Given the description of an element on the screen output the (x, y) to click on. 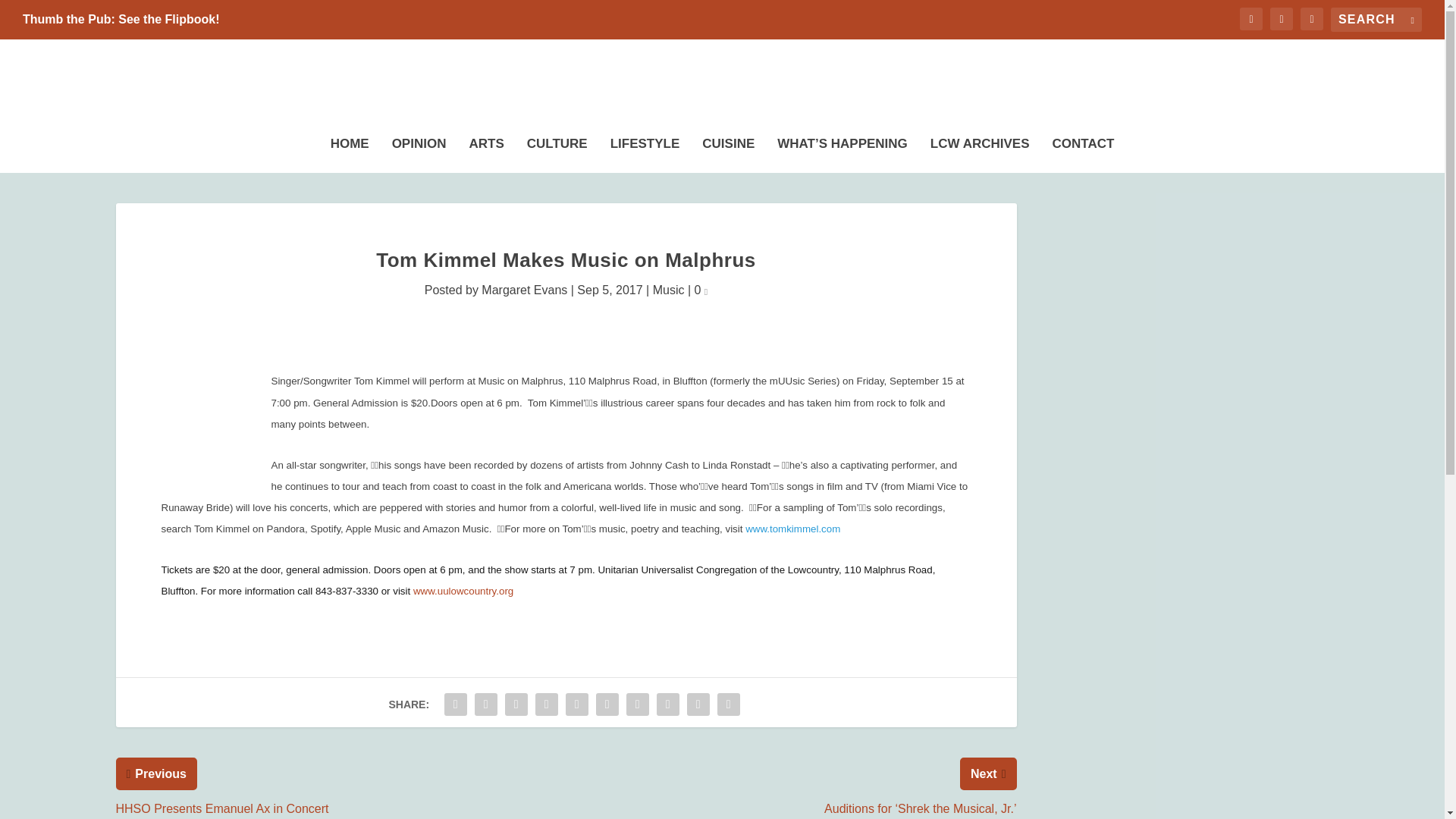
CULTURE (557, 151)
Share "Tom Kimmel Makes Music on Malphrus" via Pinterest (577, 704)
Share "Tom Kimmel Makes Music on Malphrus" via LinkedIn (607, 704)
LCW ARCHIVES (979, 151)
HOME (349, 151)
Share "Tom Kimmel Makes Music on Malphrus" via Stumbleupon (667, 704)
www.tomkimmel.com (792, 528)
Share "Tom Kimmel Makes Music on Malphrus" via Facebook (455, 704)
Share "Tom Kimmel Makes Music on Malphrus" via Print (728, 704)
Share "Tom Kimmel Makes Music on Malphrus" via Buffer (637, 704)
LIFESTYLE (644, 151)
Posts by Margaret Evans (524, 289)
0 (700, 289)
Search for: (1376, 19)
Share "Tom Kimmel Makes Music on Malphrus" via Email (697, 704)
